Given the description of an element on the screen output the (x, y) to click on. 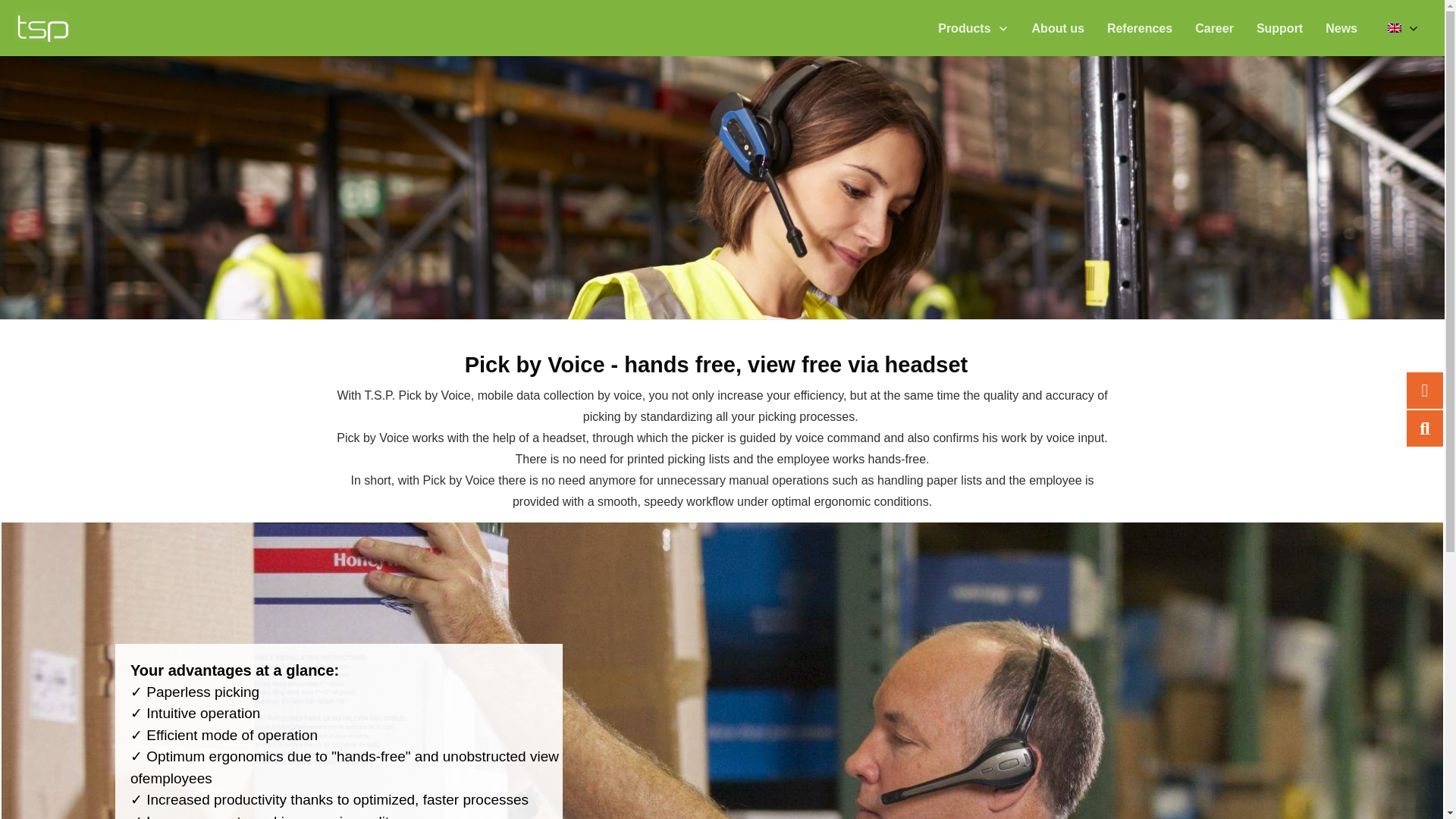
tsp Logo Header (41, 27)
Products (973, 28)
References (1139, 28)
News (1340, 28)
Support (1279, 28)
Career (1214, 28)
About us (1058, 28)
